Given the description of an element on the screen output the (x, y) to click on. 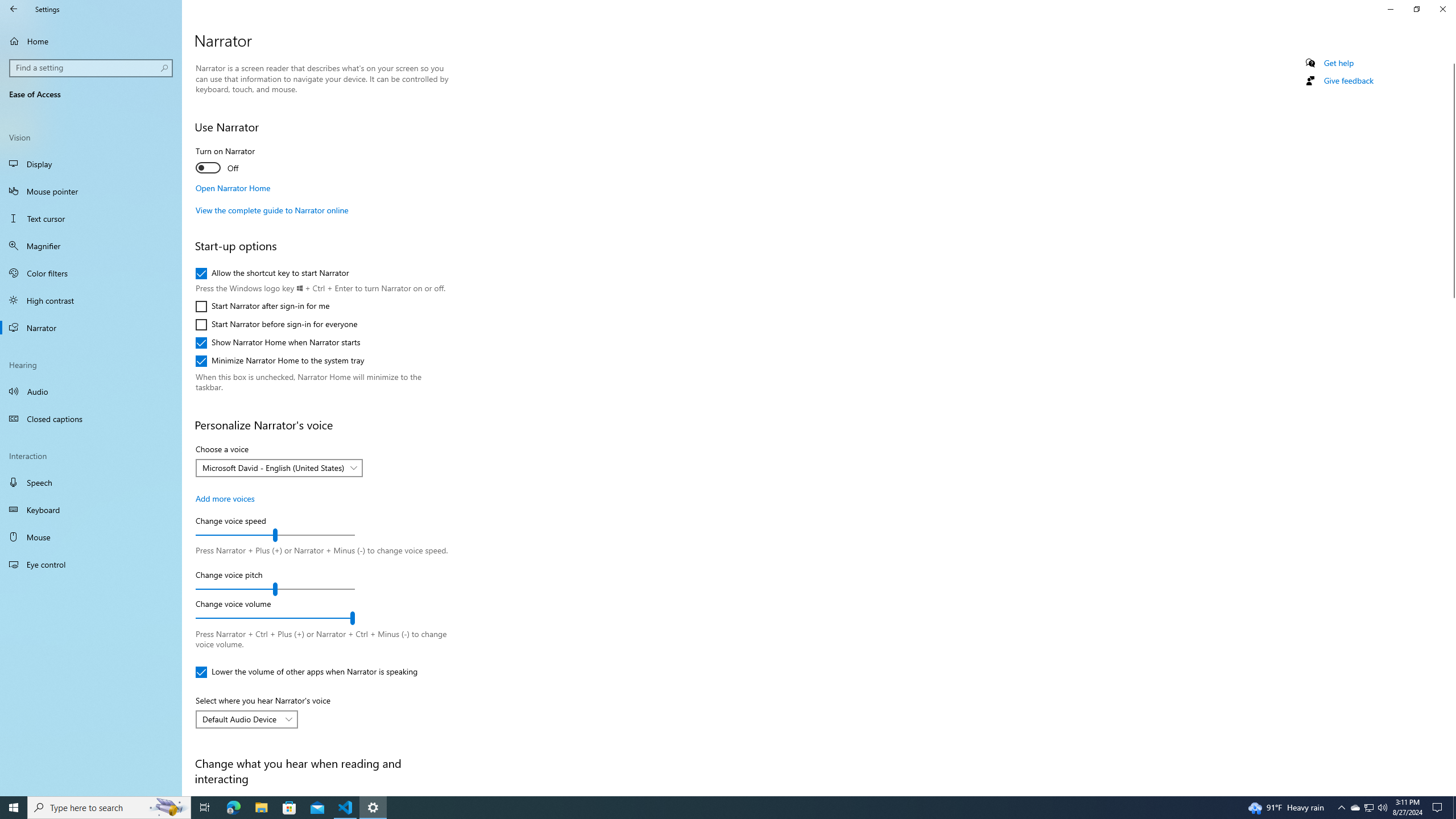
Open Narrator Home (232, 187)
Start Narrator before sign-in for everyone (276, 324)
Show Narrator Home when Narrator starts (278, 343)
Start Narrator after sign-in for me (262, 306)
Allow the shortcut key to start Narrator (272, 273)
Close Settings (1442, 9)
Color filters (91, 272)
Default Audio Device (240, 719)
Text cursor (91, 217)
Vertical Small Increase (1451, 791)
Running applications (717, 807)
